Given the description of an element on the screen output the (x, y) to click on. 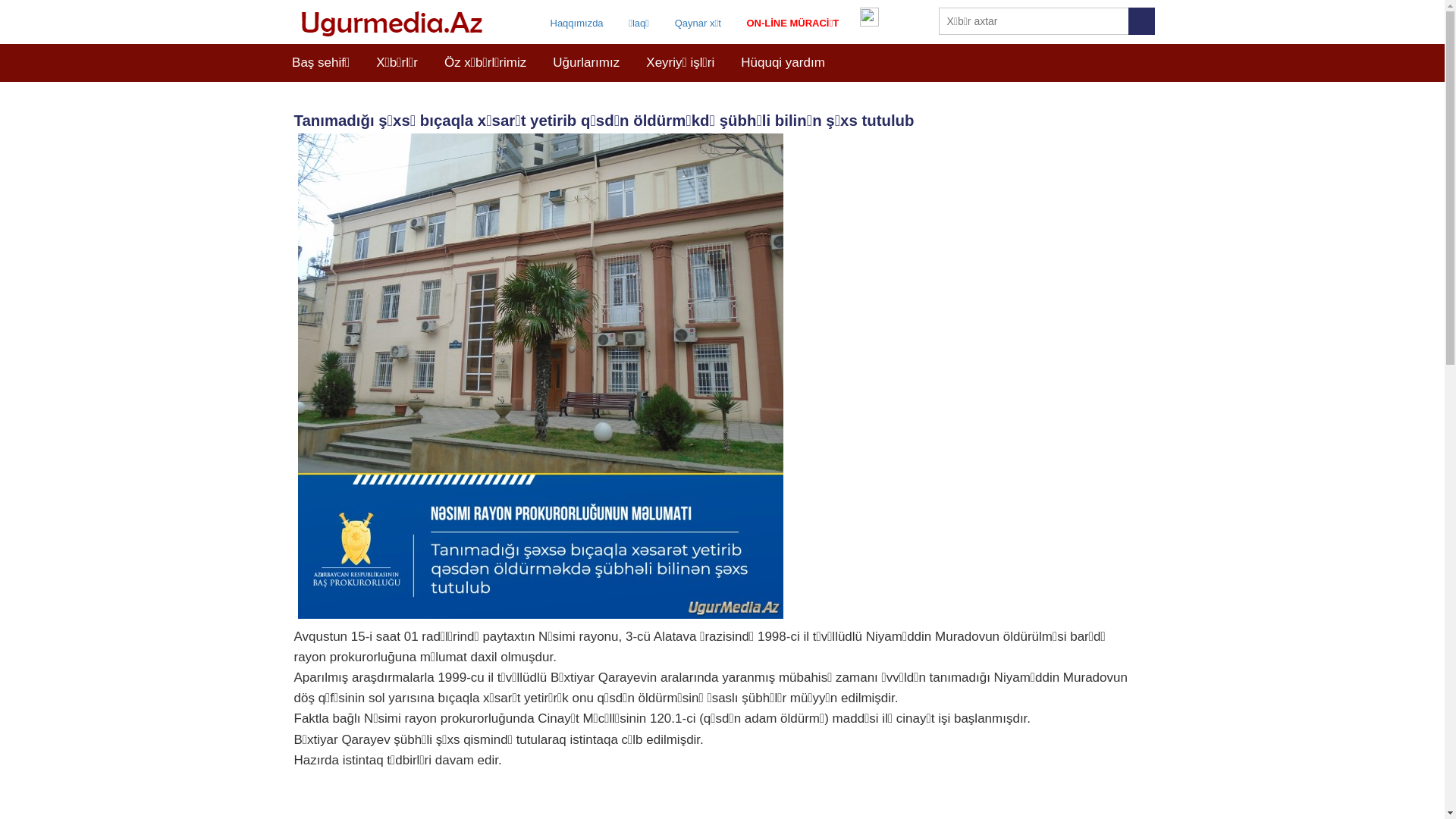
Son xeberler Azerbaycan xeberleri Element type: hover (393, 23)
  Element type: text (1141, 20)
